Given the description of an element on the screen output the (x, y) to click on. 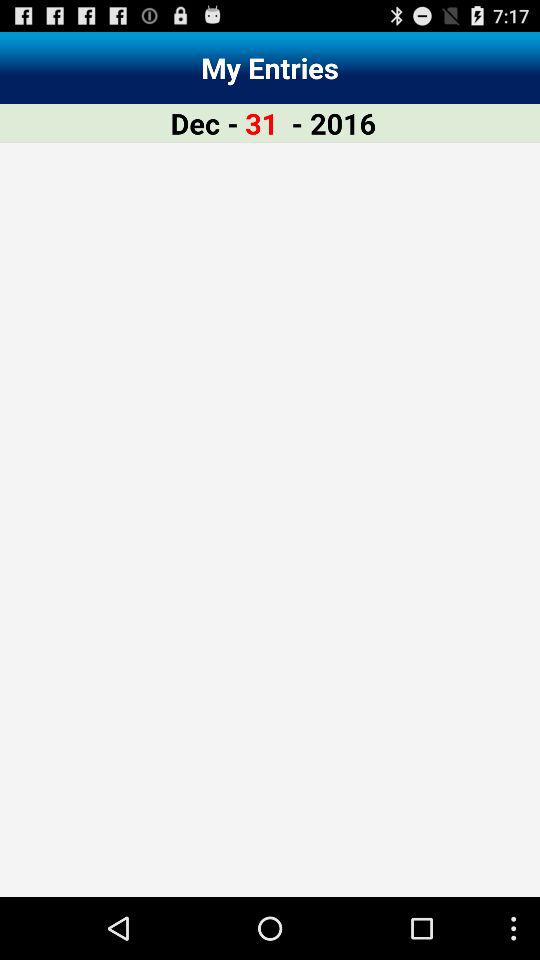
click the app next to 31 app (204, 122)
